Given the description of an element on the screen output the (x, y) to click on. 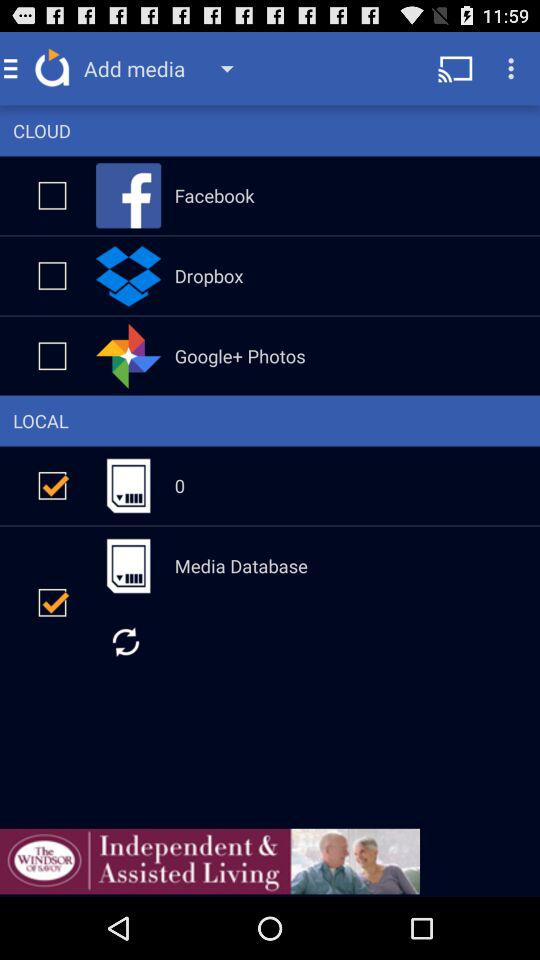
go to reload button (125, 641)
